Given the description of an element on the screen output the (x, y) to click on. 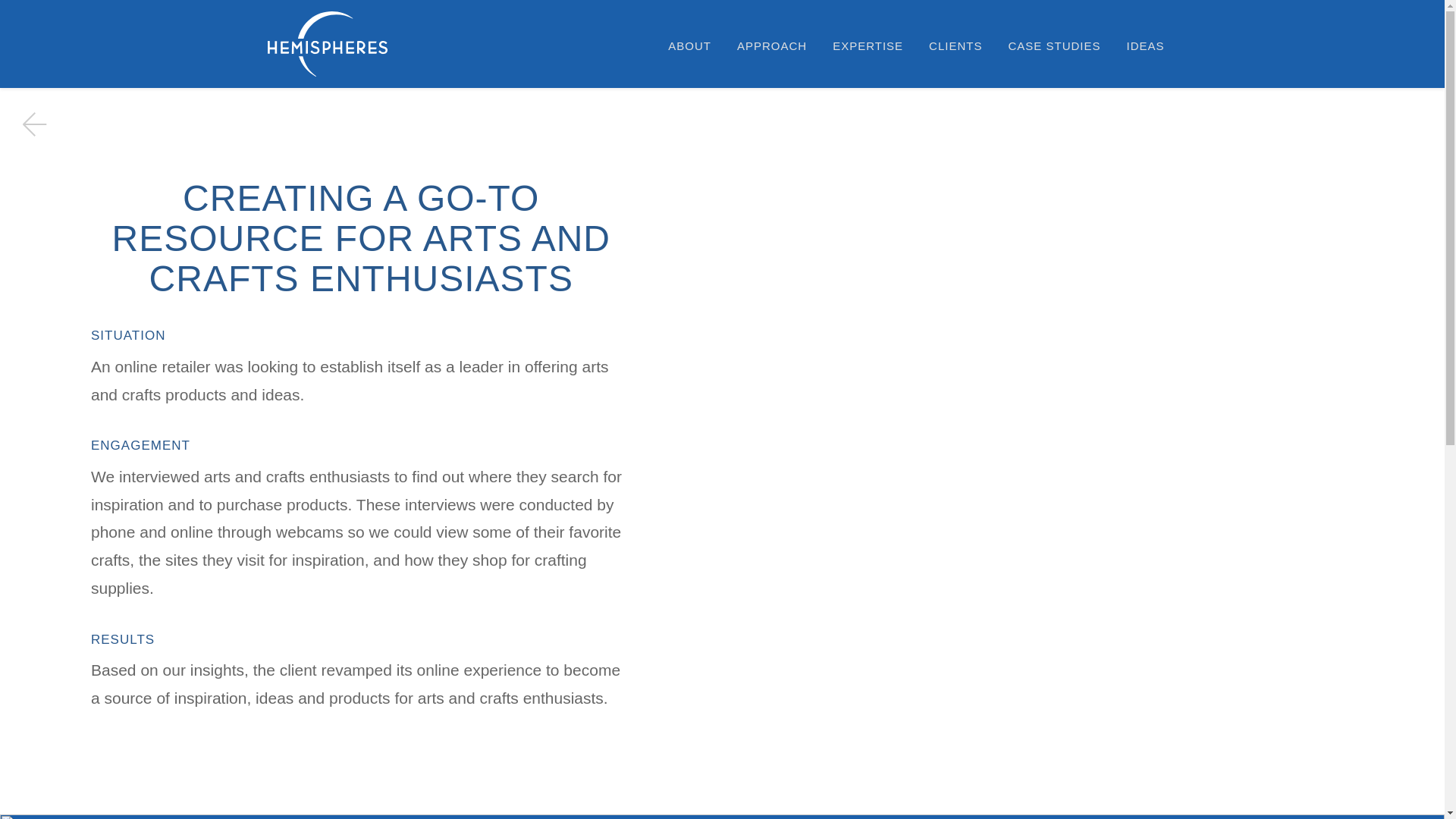
Expertise (868, 45)
Ideas (1145, 45)
Clients (955, 45)
Approach (771, 45)
IDEAS (1145, 45)
About (690, 45)
Case Studies (1054, 45)
APPROACH (771, 45)
CASE STUDIES (1054, 45)
CLIENTS (955, 45)
EXPERTISE (868, 45)
ABOUT (690, 45)
